Given the description of an element on the screen output the (x, y) to click on. 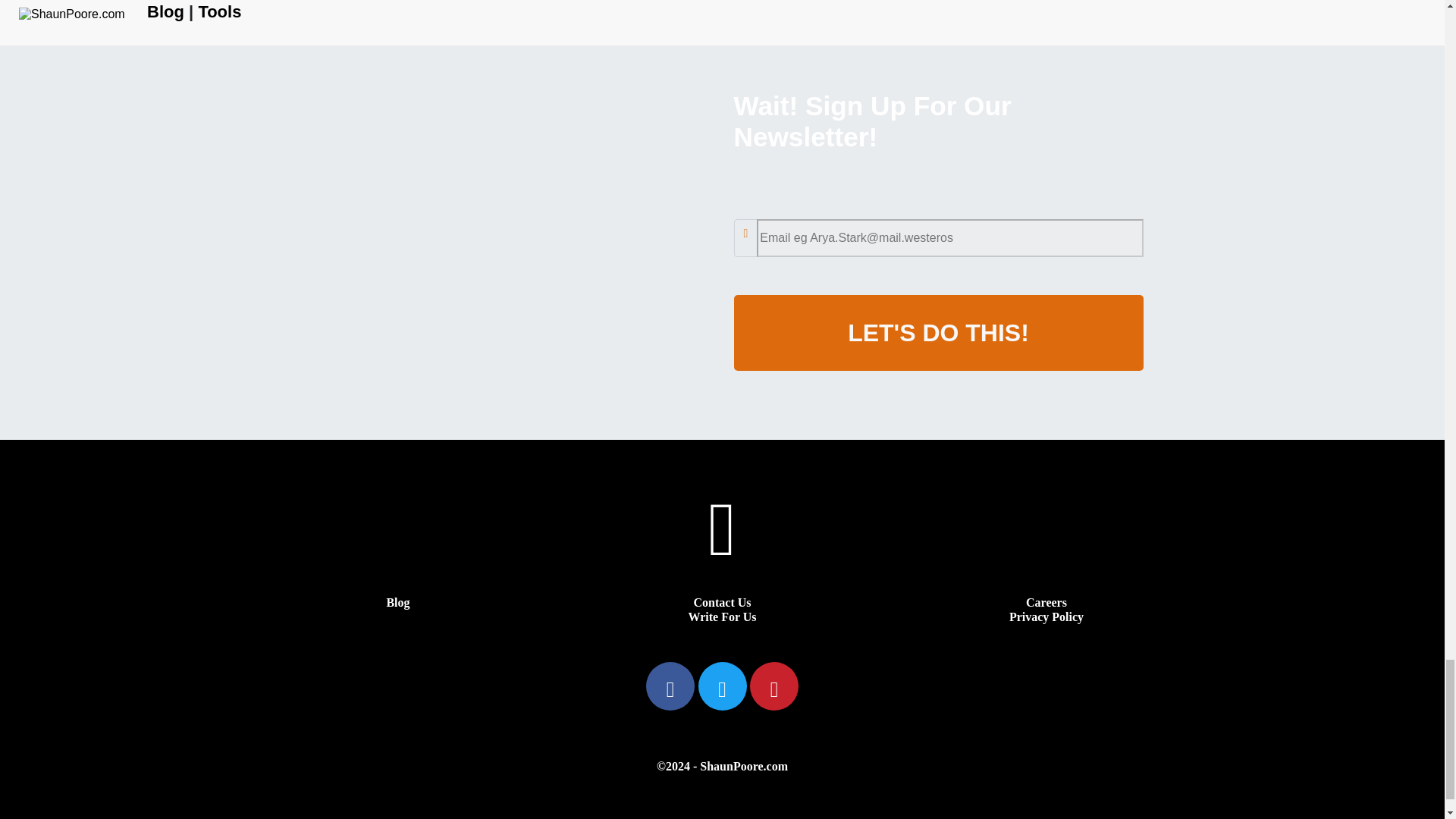
Post Comment (496, 9)
Follow us on Facebook (671, 692)
Follow us on Pinterest (773, 692)
Privacy Policy (1046, 616)
Follow us on Twitter (723, 692)
Contact Us (722, 602)
Check Out My YouTube Channel! (721, 550)
LET'S DO THIS! (937, 332)
Careers (1046, 602)
Post Comment (496, 9)
Write For Us (721, 616)
Blog (397, 602)
